Given the description of an element on the screen output the (x, y) to click on. 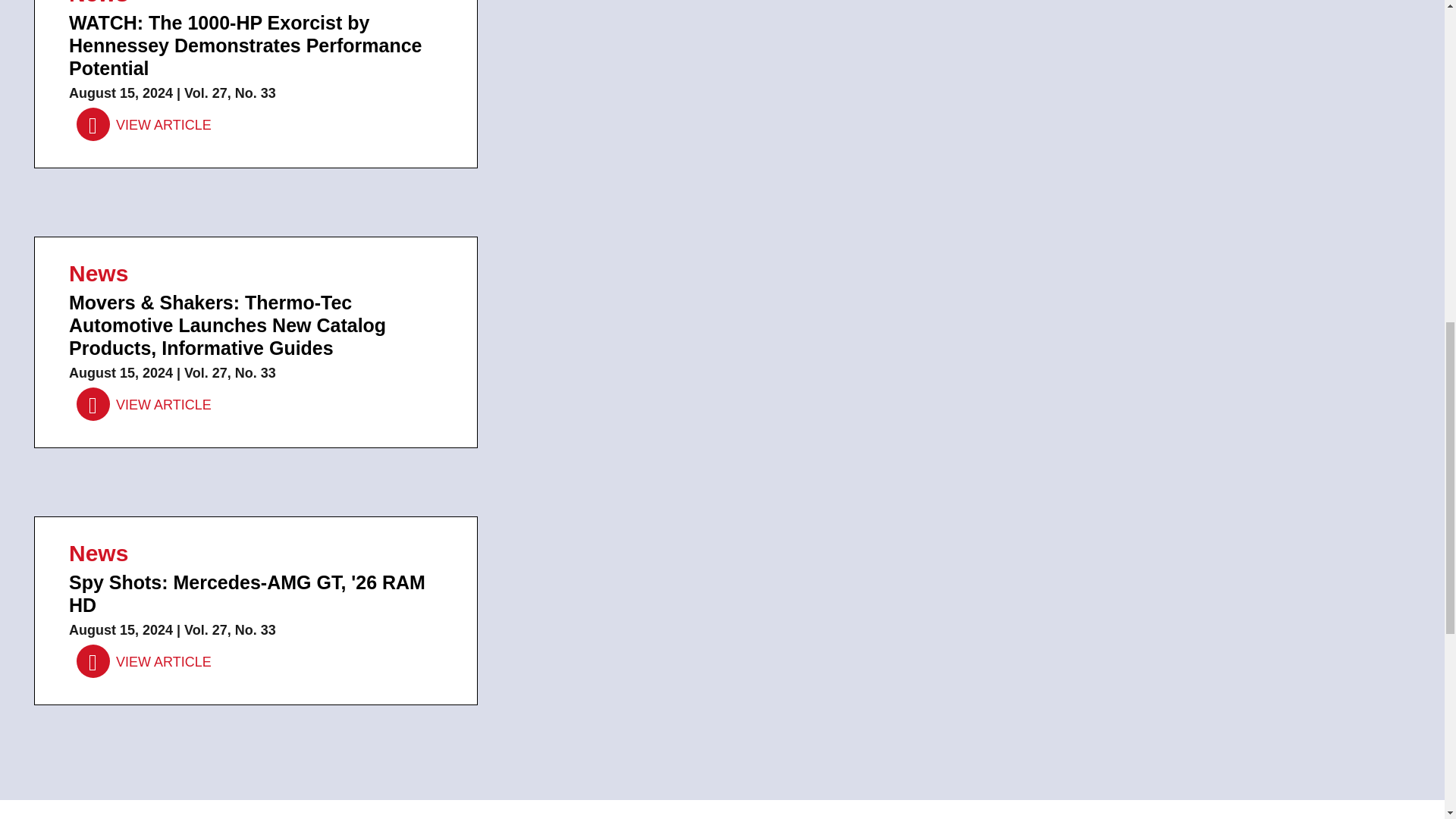
VIEW ARTICLE (143, 124)
VIEW ARTICLE (143, 404)
VIEW ARTICLE (143, 662)
Spy Shots: Mercedes-AMG GT, '26 RAM HD (143, 662)
